Given the description of an element on the screen output the (x, y) to click on. 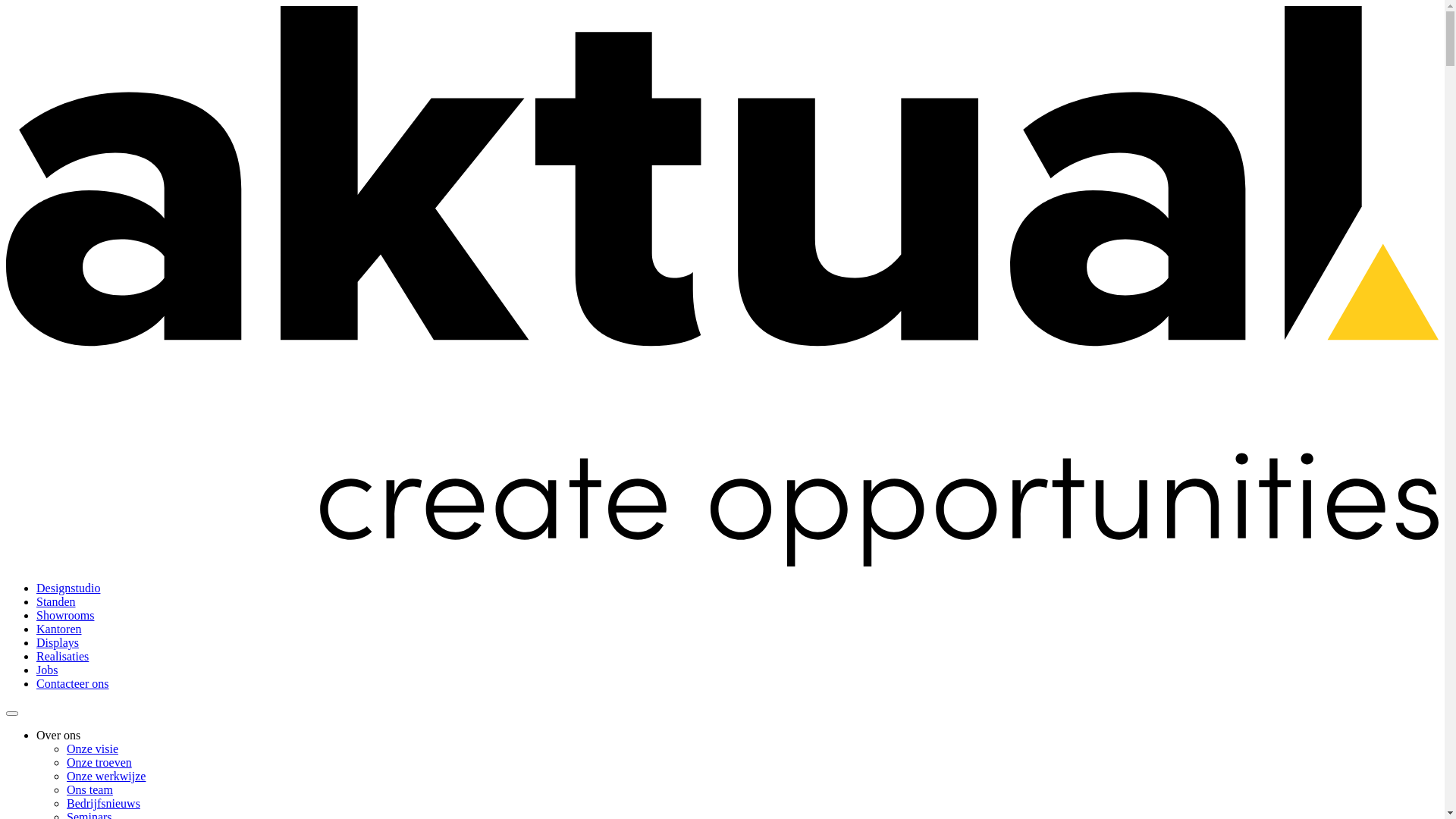
Onze troeven Element type: text (98, 762)
Designstudio Element type: text (68, 587)
Displays Element type: text (57, 642)
Standen Element type: text (55, 601)
Contacteer ons Element type: text (72, 683)
Ons team Element type: text (89, 789)
Bedrijfsnieuws Element type: text (103, 803)
Showrooms Element type: text (65, 614)
Jobs Element type: text (46, 669)
Kantoren Element type: text (58, 628)
Onze visie Element type: text (92, 748)
Realisaties Element type: text (62, 655)
Over ons Element type: text (58, 734)
Onze werkwijze Element type: text (105, 775)
